Given the description of an element on the screen output the (x, y) to click on. 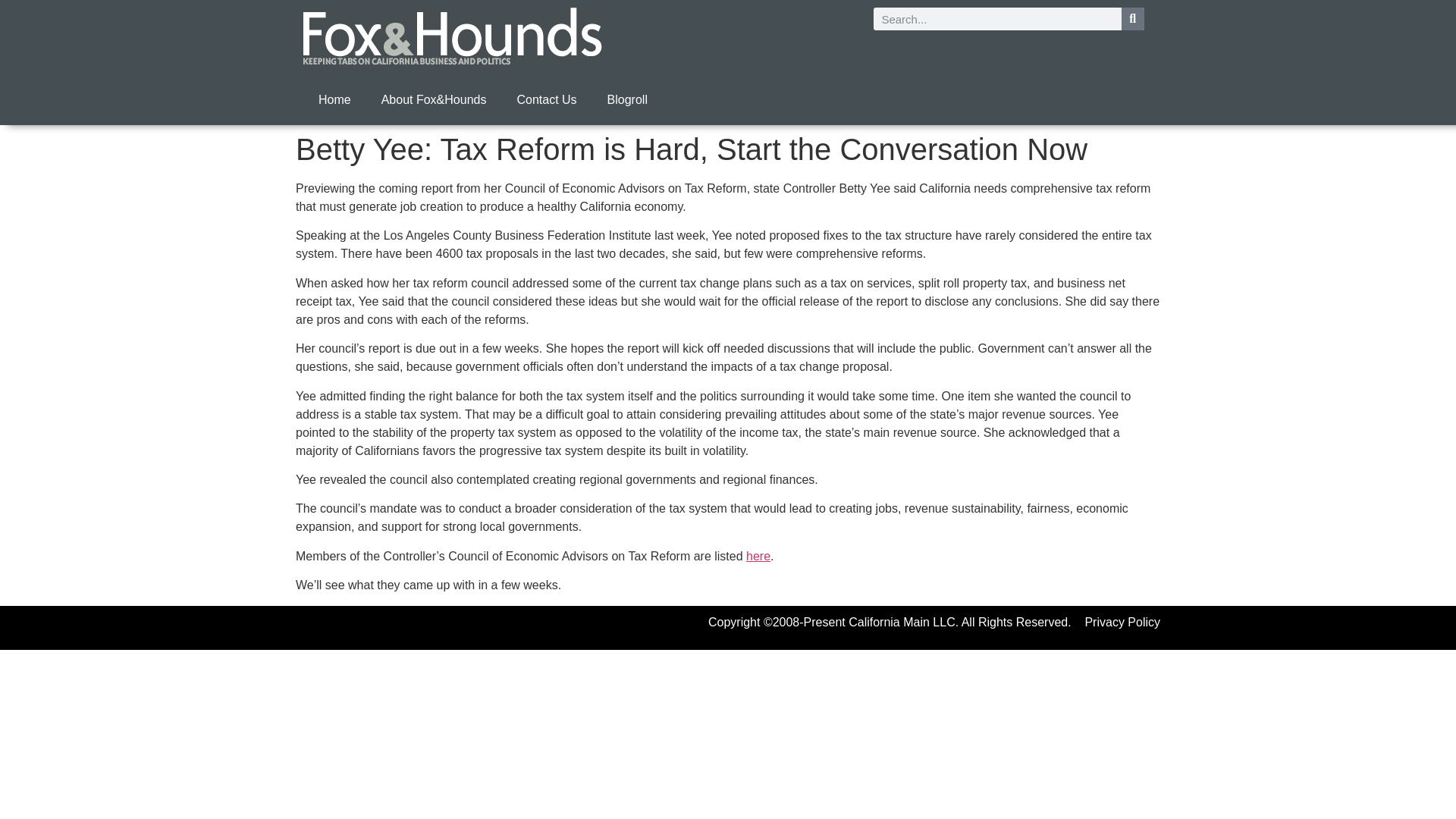
Privacy Policy (1122, 621)
Contact Us (545, 99)
Blogroll (627, 99)
Home (334, 99)
here (757, 555)
